Given the description of an element on the screen output the (x, y) to click on. 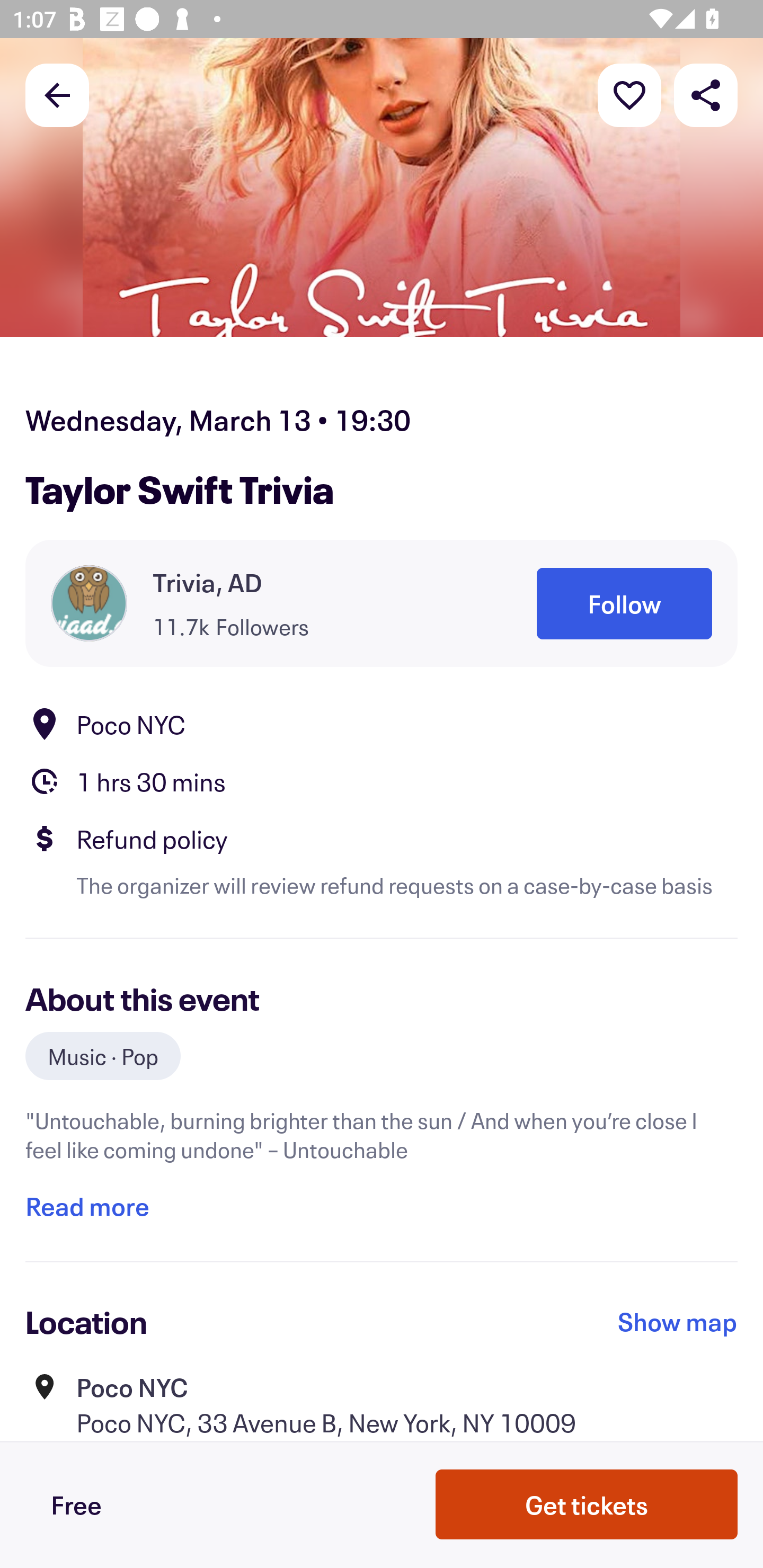
Back (57, 94)
More (629, 94)
Share (705, 94)
Trivia, AD (207, 582)
Organizer profile picture (89, 602)
Follow (623, 603)
Location Poco NYC (381, 724)
Read more (87, 1206)
Show map (677, 1321)
Get tickets (586, 1504)
